Given the description of an element on the screen output the (x, y) to click on. 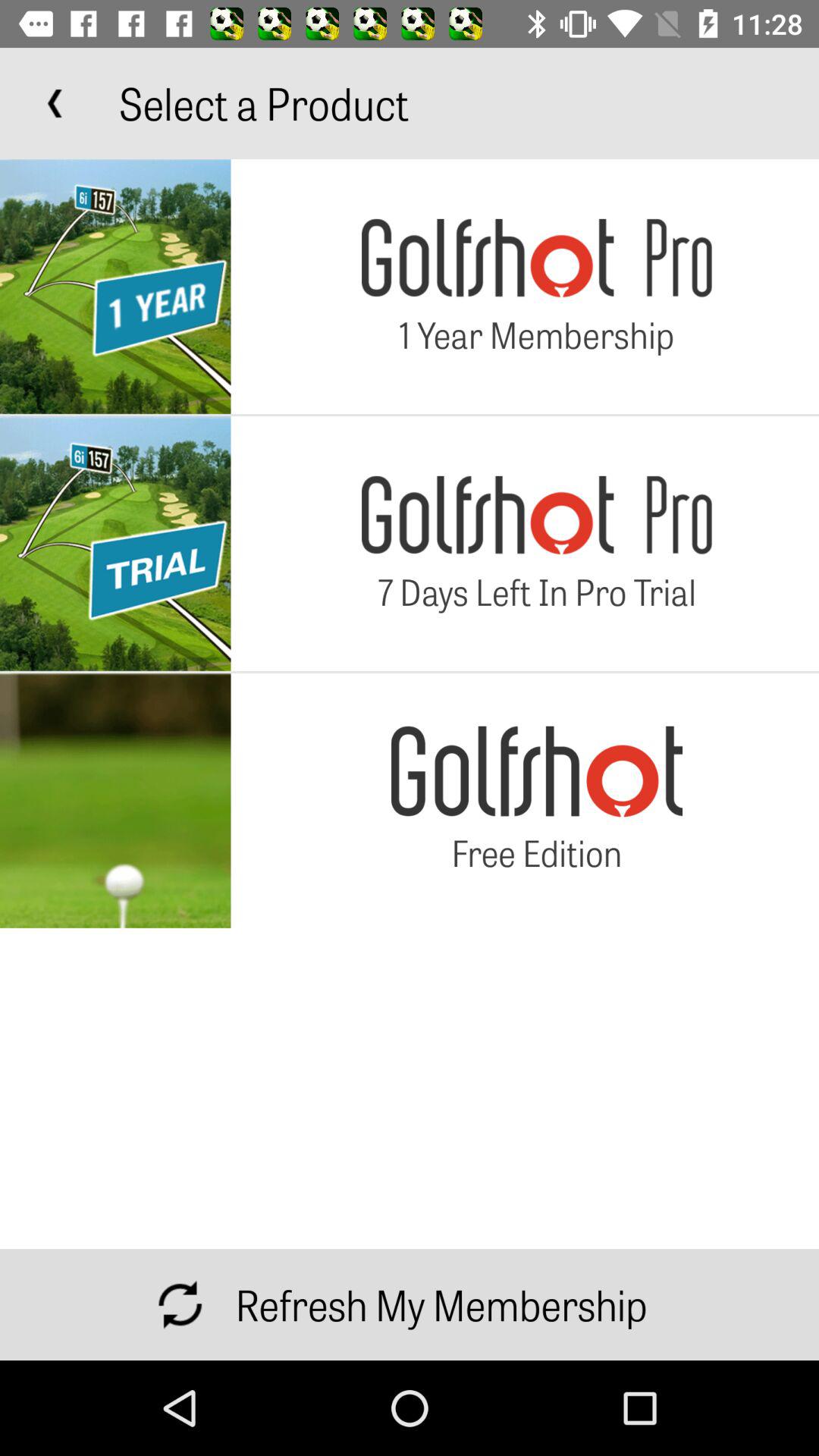
open app to the left of select a product icon (55, 103)
